Given the description of an element on the screen output the (x, y) to click on. 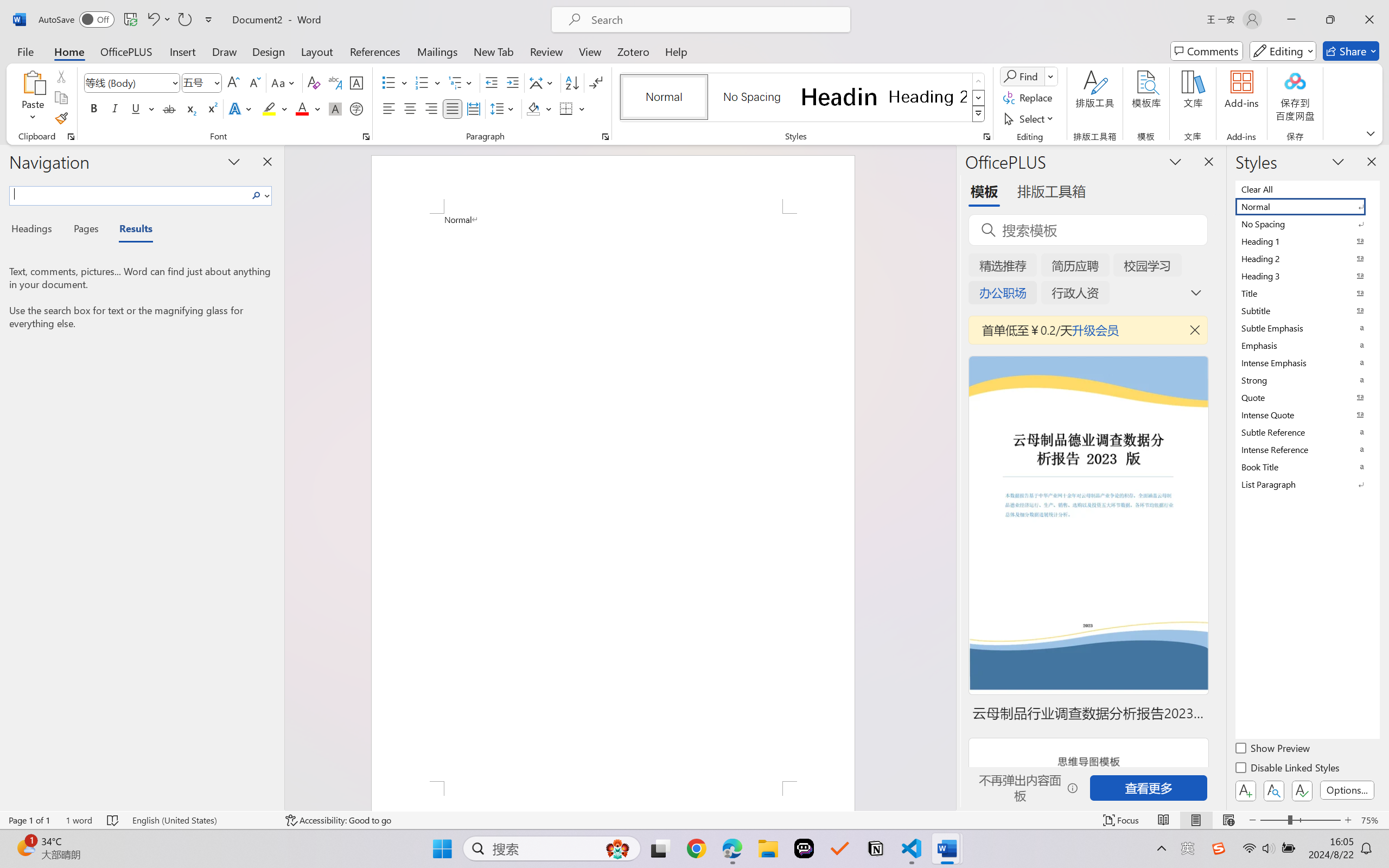
Design (268, 51)
References (375, 51)
Align Right (431, 108)
